Given the description of an element on the screen output the (x, y) to click on. 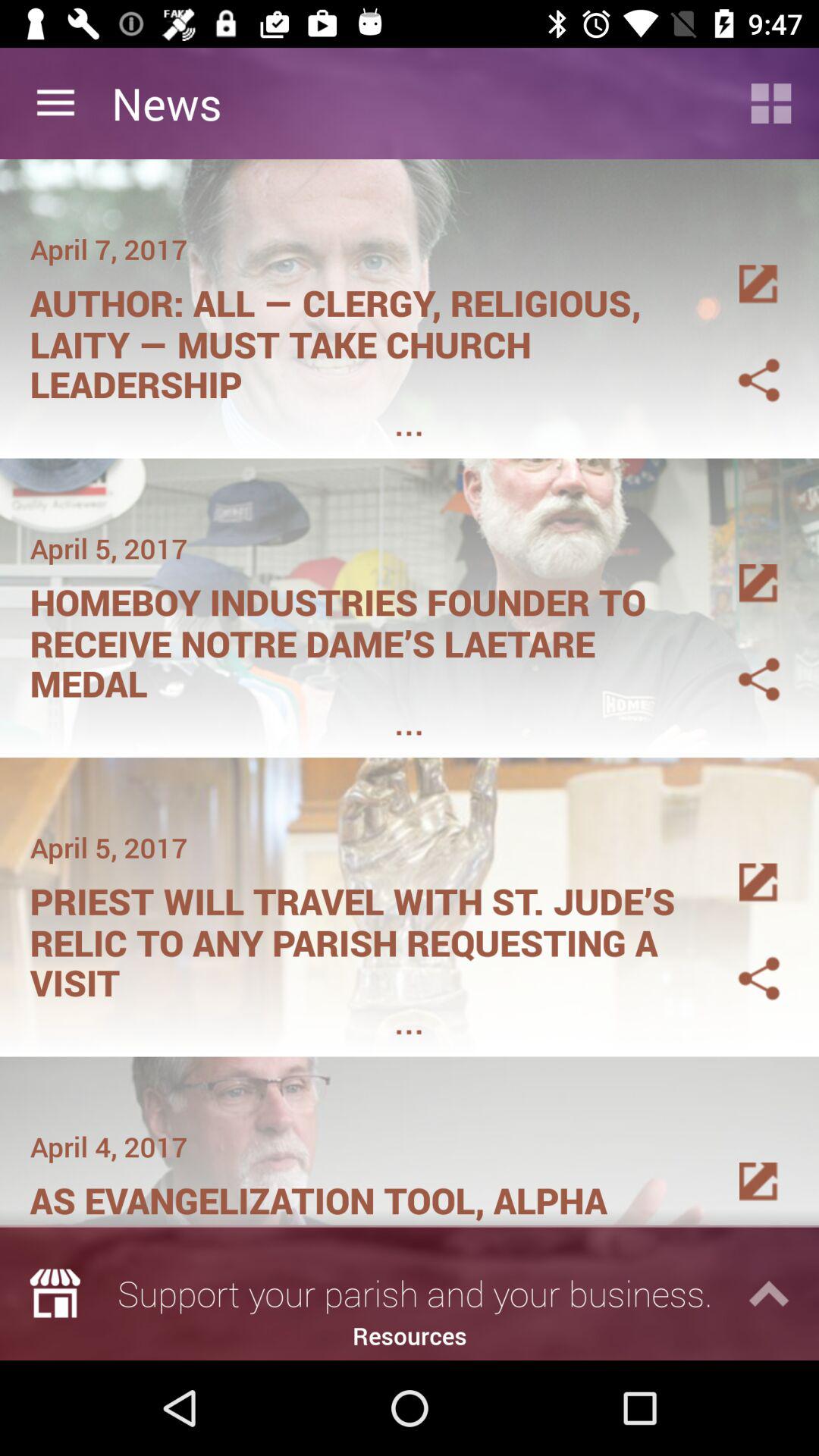
press the details (740, 864)
